Given the description of an element on the screen output the (x, y) to click on. 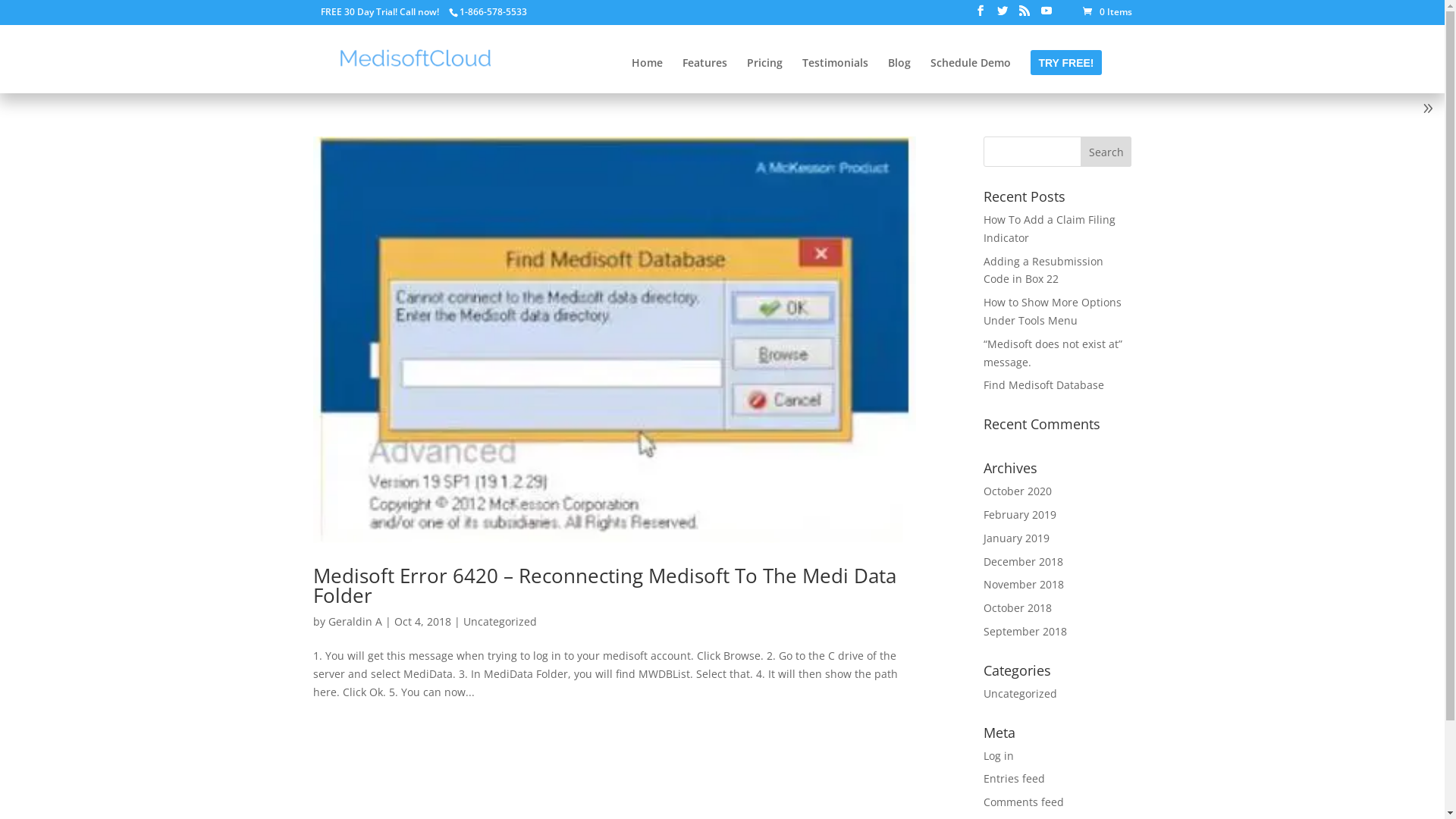
December 2018 Element type: text (1023, 561)
Geraldin A Element type: text (354, 621)
September 2018 Element type: text (1024, 631)
November 2018 Element type: text (1023, 584)
TRY FREE! Element type: text (1065, 75)
February 2019 Element type: text (1019, 514)
Pricing Element type: text (764, 75)
How To Add a Claim Filing Indicator Element type: text (1049, 228)
Features Element type: text (704, 75)
Search Element type: text (1106, 151)
Testimonials Element type: text (835, 75)
Uncategorized Element type: text (1020, 693)
1-866-578-5533 Element type: text (492, 11)
Home Element type: text (646, 75)
Adding a Resubmission Code in Box 22 Element type: text (1043, 270)
How to Show More Options Under Tools Menu Element type: text (1052, 310)
Find Medisoft Database Element type: text (1043, 384)
Log in Element type: text (998, 755)
Toggle Sidebar Element type: hover (1427, 110)
October 2018 Element type: text (1017, 607)
October 2020 Element type: text (1017, 490)
Uncategorized Element type: text (499, 621)
0 Items Element type: text (1107, 11)
Comments feed Element type: text (1023, 801)
Schedule Demo Element type: text (970, 75)
January 2019 Element type: text (1016, 537)
Blog Element type: text (899, 75)
Entries feed Element type: text (1013, 778)
